Given the description of an element on the screen output the (x, y) to click on. 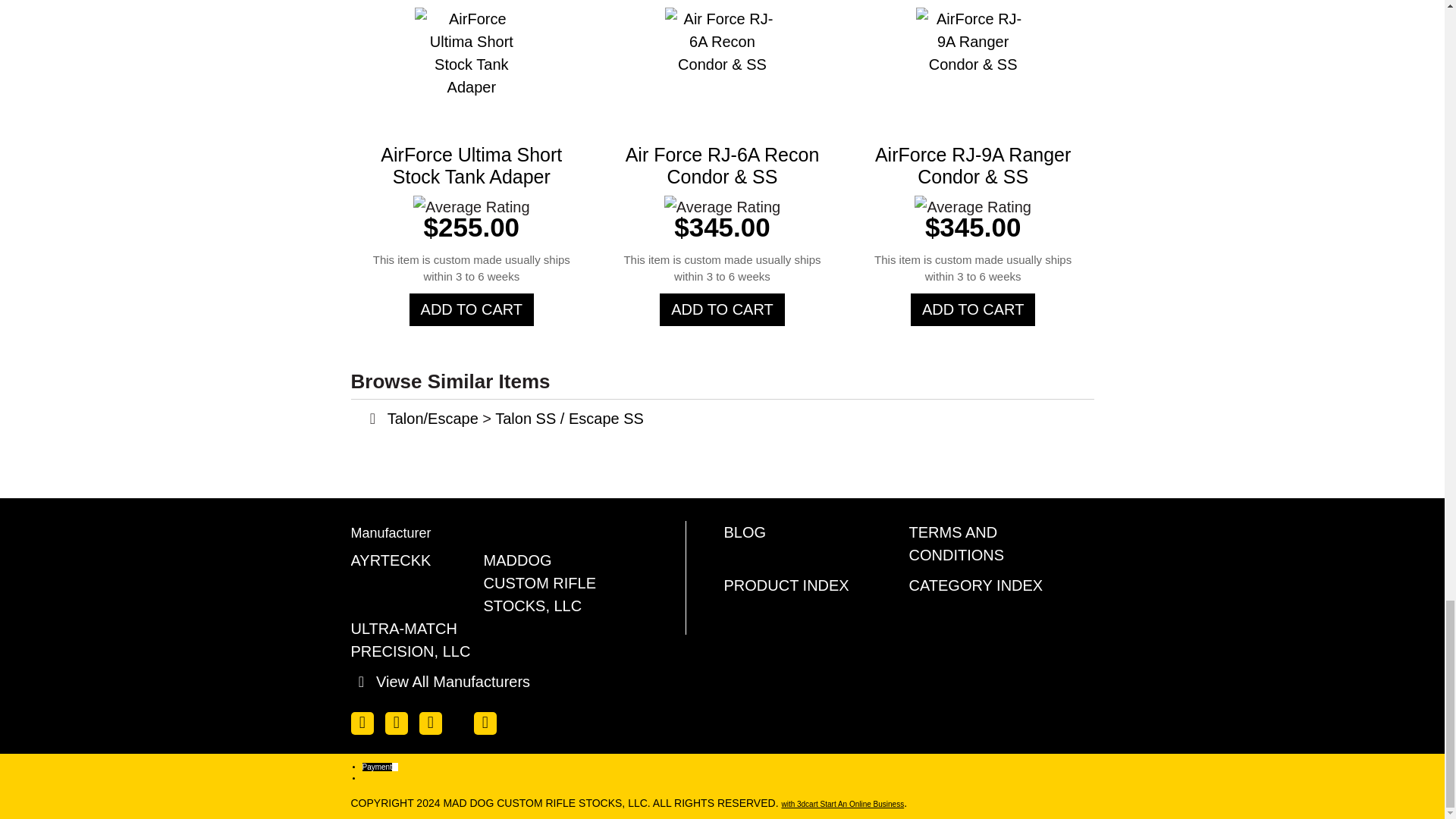
Subscribe to Our Channel (430, 722)
Follow Us on Instagram (484, 722)
Follow Us on Pinterest (461, 719)
Add To Cart (973, 309)
Follow Us on Twitter (396, 722)
Add To Cart (721, 309)
Like Us on Facebook (361, 722)
Add To Cart (471, 309)
